Given the description of an element on the screen output the (x, y) to click on. 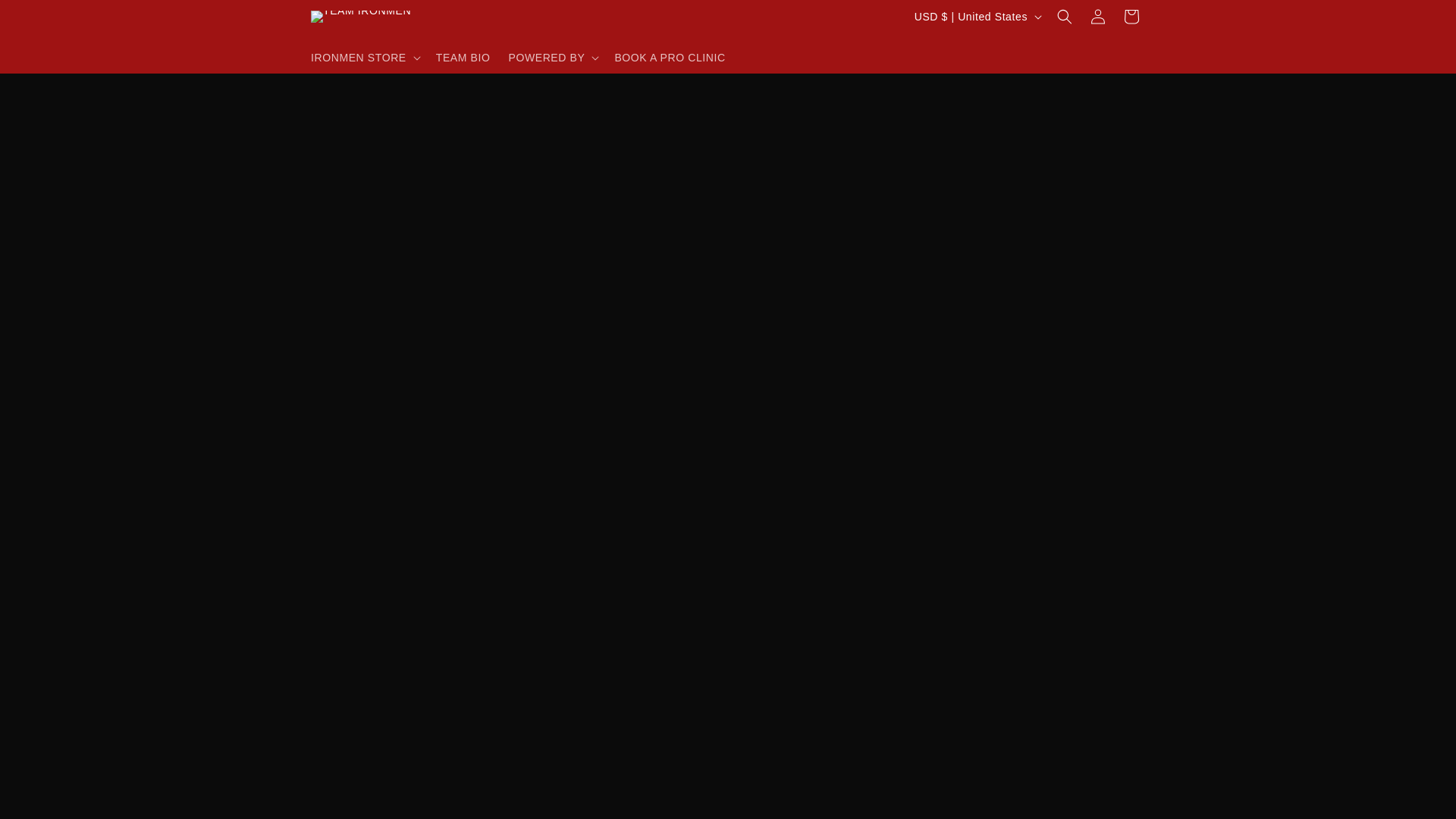
Skip to content (45, 17)
